Given the description of an element on the screen output the (x, y) to click on. 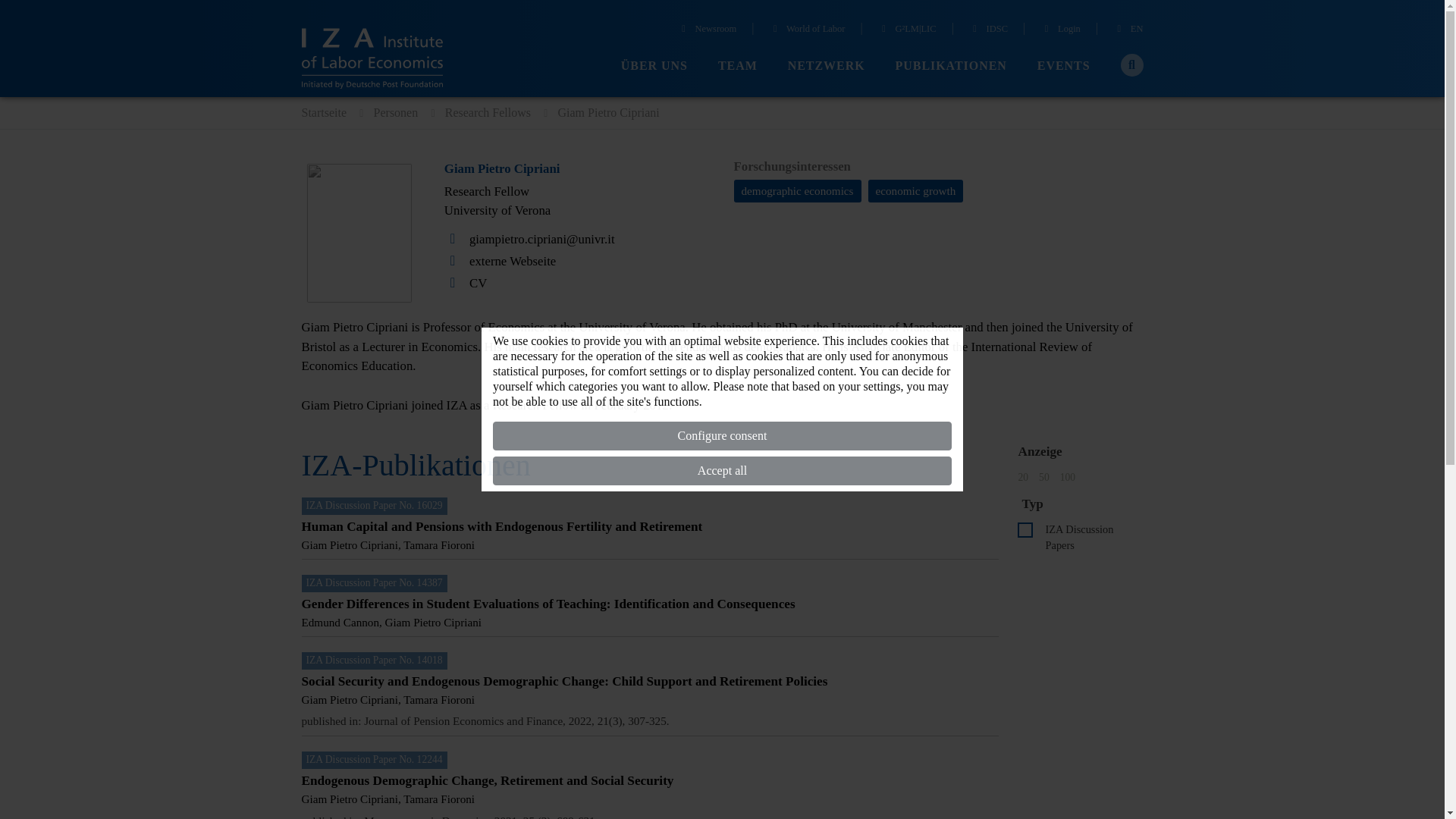
EN (1127, 30)
IDSC (988, 30)
TEAM (737, 66)
World of Labor (807, 30)
NETZWERK (825, 66)
Newsroom (707, 30)
dp (1024, 529)
Login (1060, 30)
PUBLIKATIONEN (951, 66)
EVENTS (1063, 66)
